Given the description of an element on the screen output the (x, y) to click on. 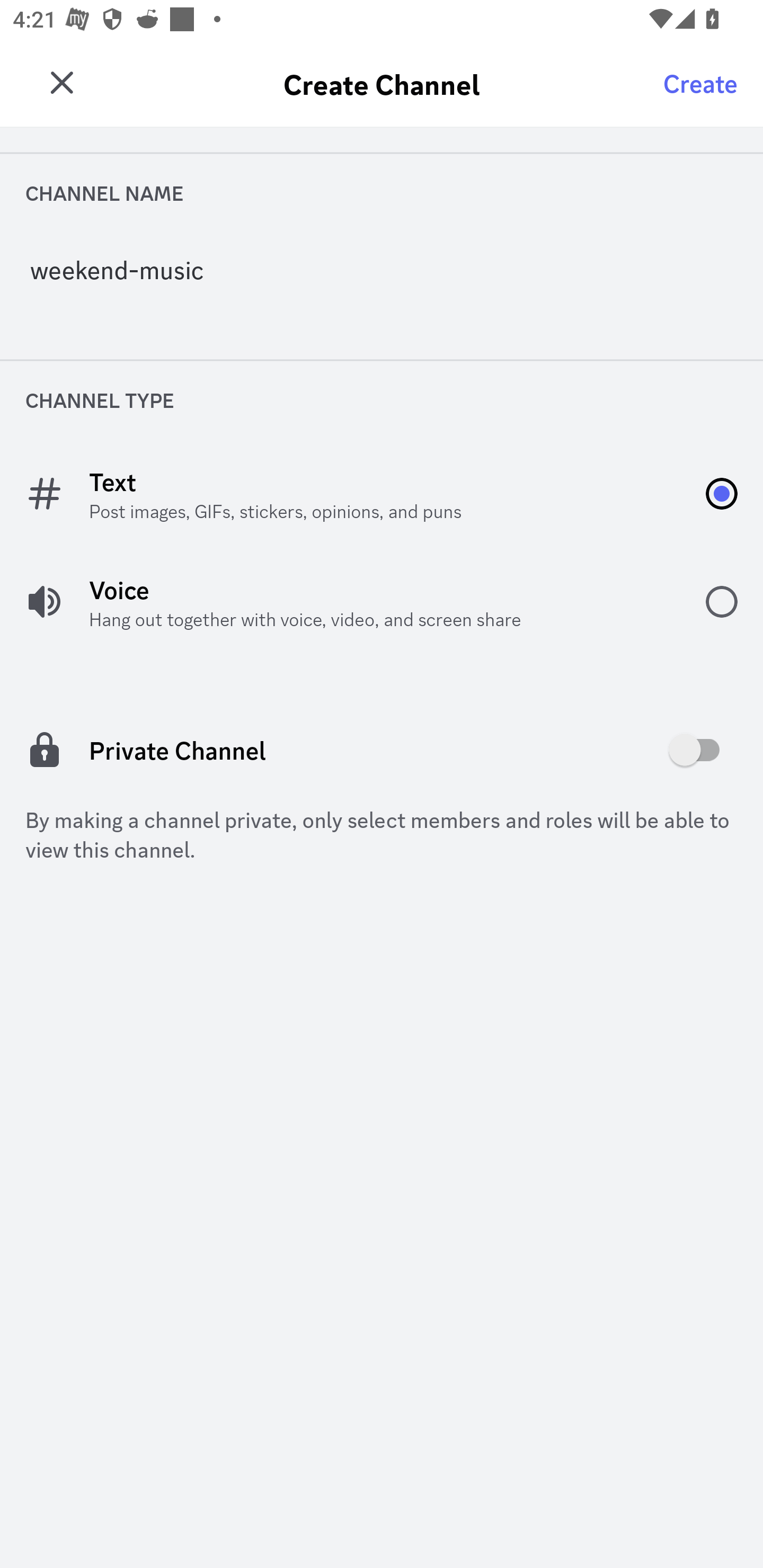
  Friends F (66, 75)
Friends (server) Friends (server) Friends Friends (412, 83)
Create (700, 82)
weekend-music Channel Name (381, 274)
off Private Channel Private Channel (381, 749)
